Given the description of an element on the screen output the (x, y) to click on. 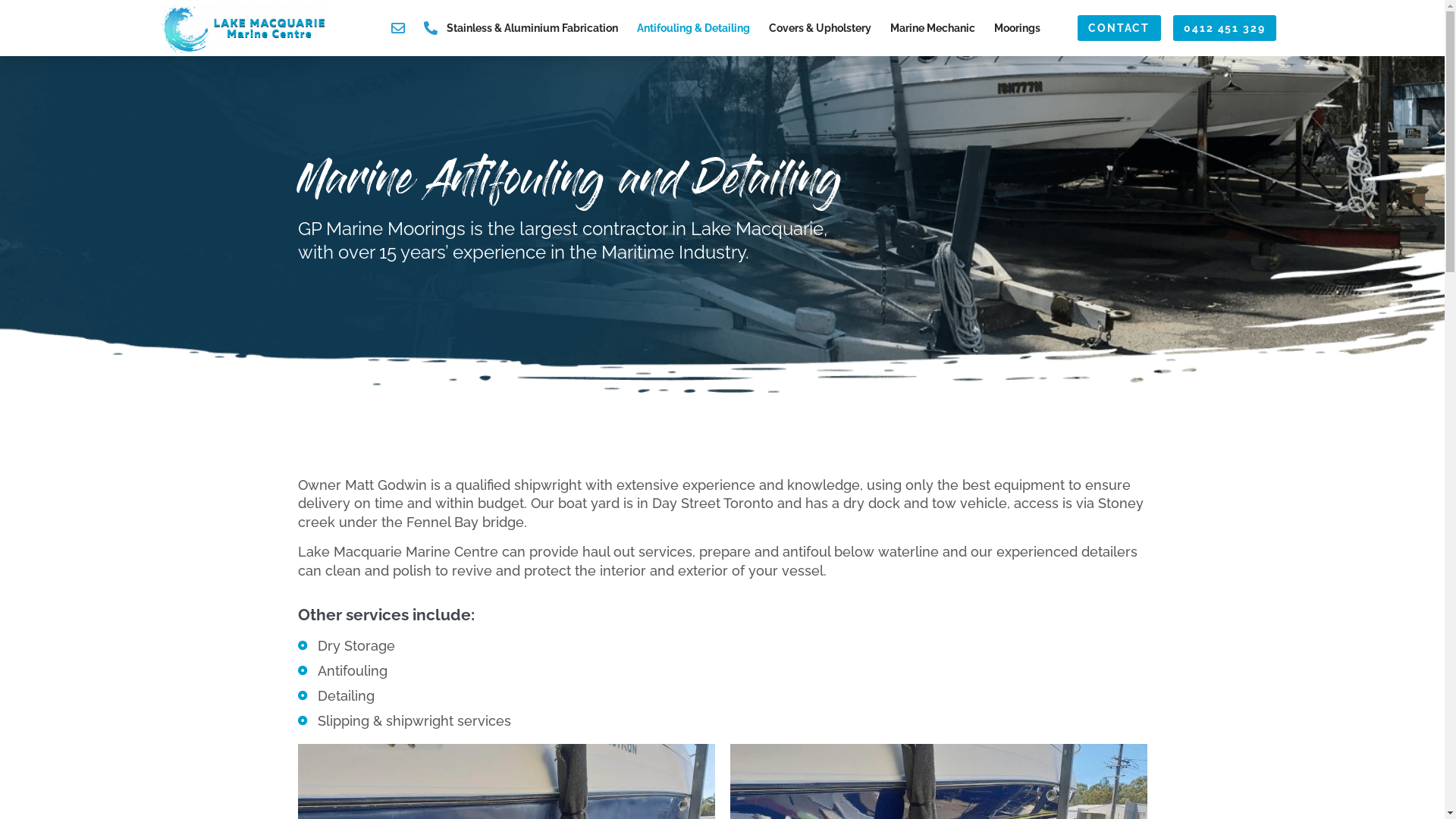
Moorings Element type: text (1017, 27)
Antifouling & Detailing Element type: text (693, 27)
CONTACT Element type: text (1119, 28)
Marine Mechanic Element type: text (932, 27)
logo Element type: hover (242, 27)
Covers & Upholstery Element type: text (820, 27)
Stainless & Aluminium Fabrication Element type: text (531, 27)
0412 451 329 Element type: text (1225, 28)
